Given the description of an element on the screen output the (x, y) to click on. 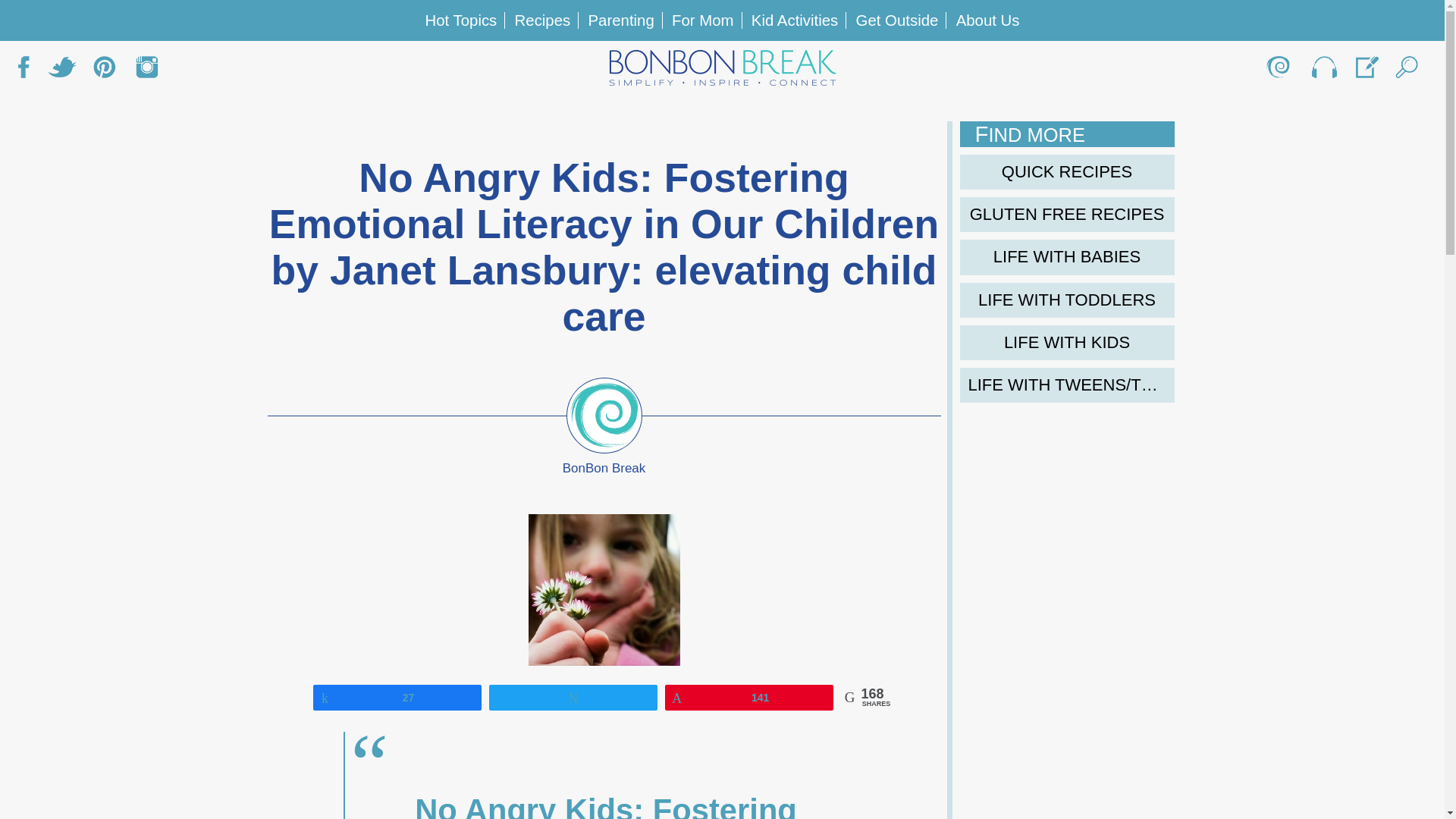
QUICK RECIPES (1066, 171)
About Us (988, 20)
BonBon Submit (1365, 71)
About Us (1280, 71)
Parenting (620, 20)
Instagram (146, 71)
Twitter (61, 71)
BonBon Live (1322, 71)
Kid Activities (794, 20)
Quick Recipes (1066, 171)
Life with toddlers (1066, 299)
27 (397, 696)
Pinteret (103, 71)
Life with kids (1066, 342)
Get Outside (897, 20)
